Given the description of an element on the screen output the (x, y) to click on. 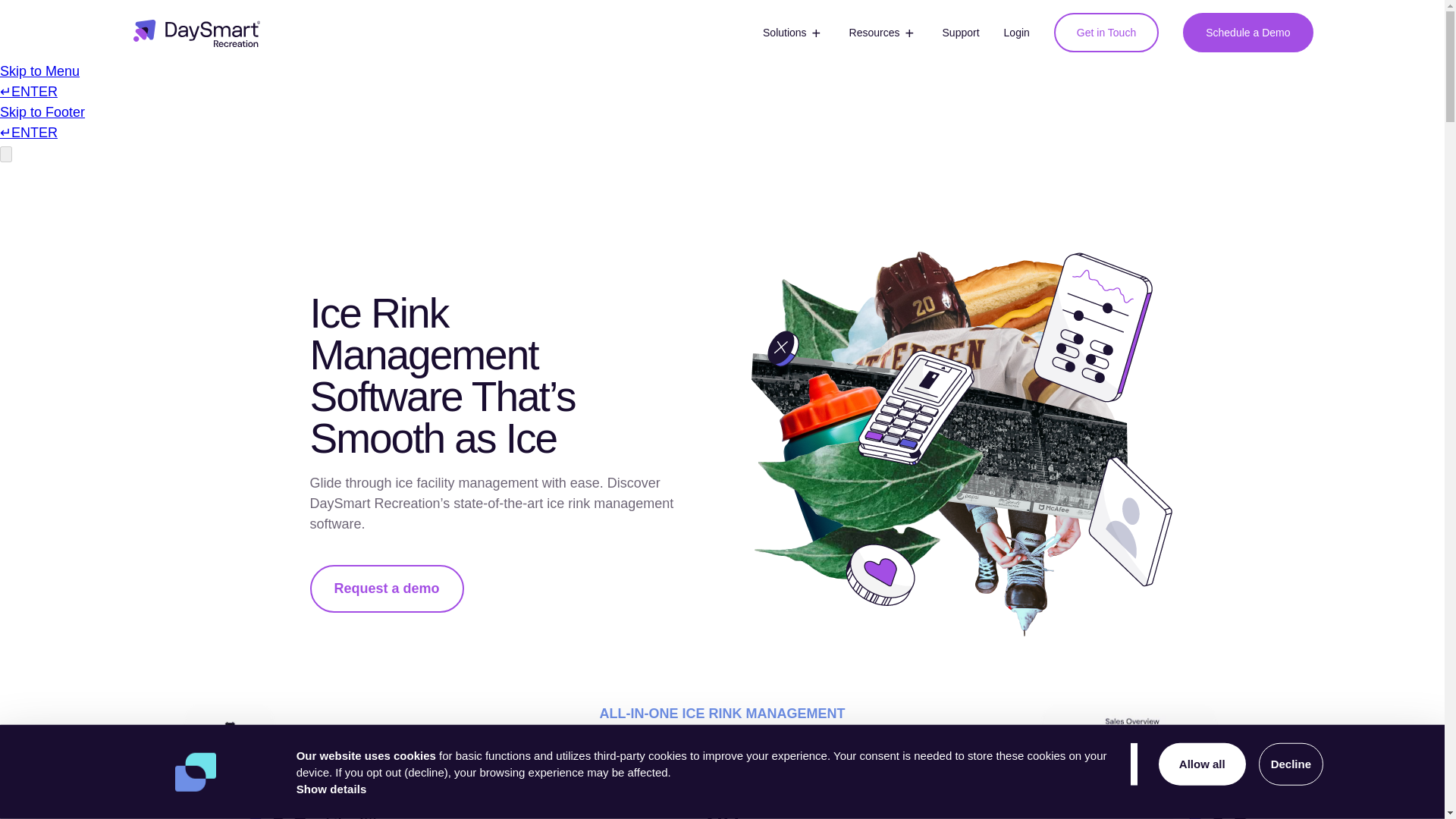
Show details (331, 789)
